Given the description of an element on the screen output the (x, y) to click on. 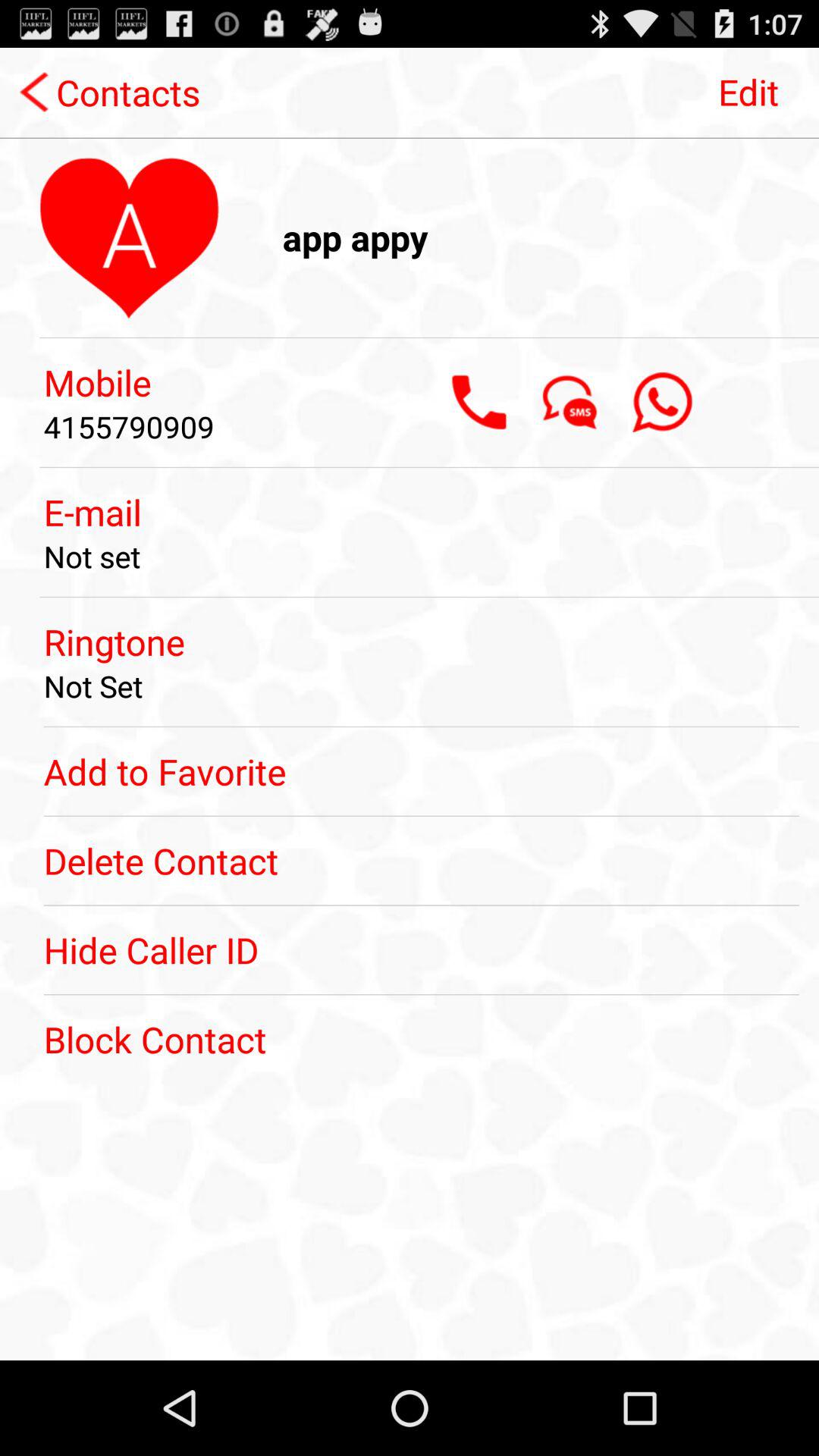
open chat (570, 402)
